Given the description of an element on the screen output the (x, y) to click on. 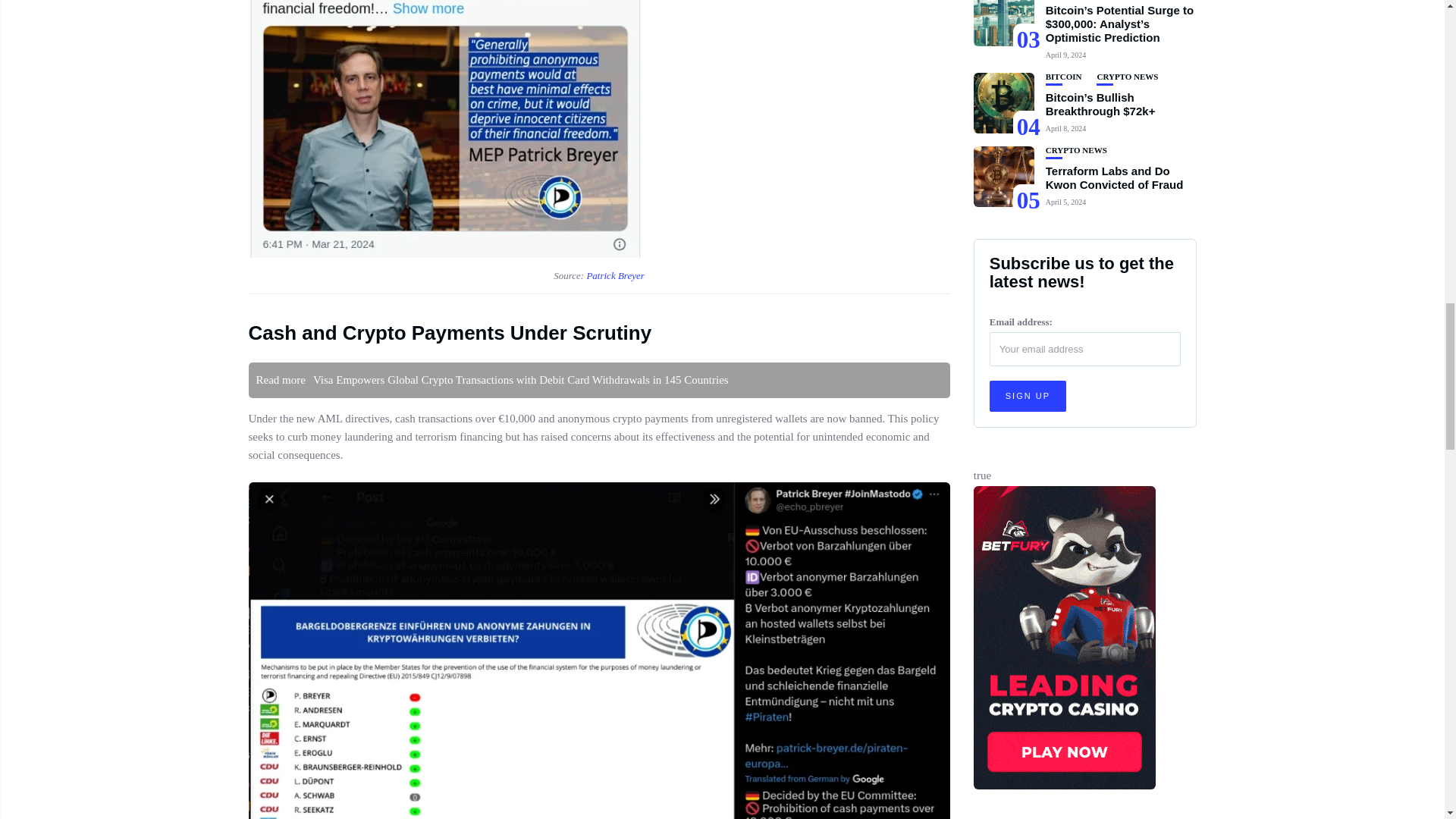
Sign up (1027, 395)
